Given the description of an element on the screen output the (x, y) to click on. 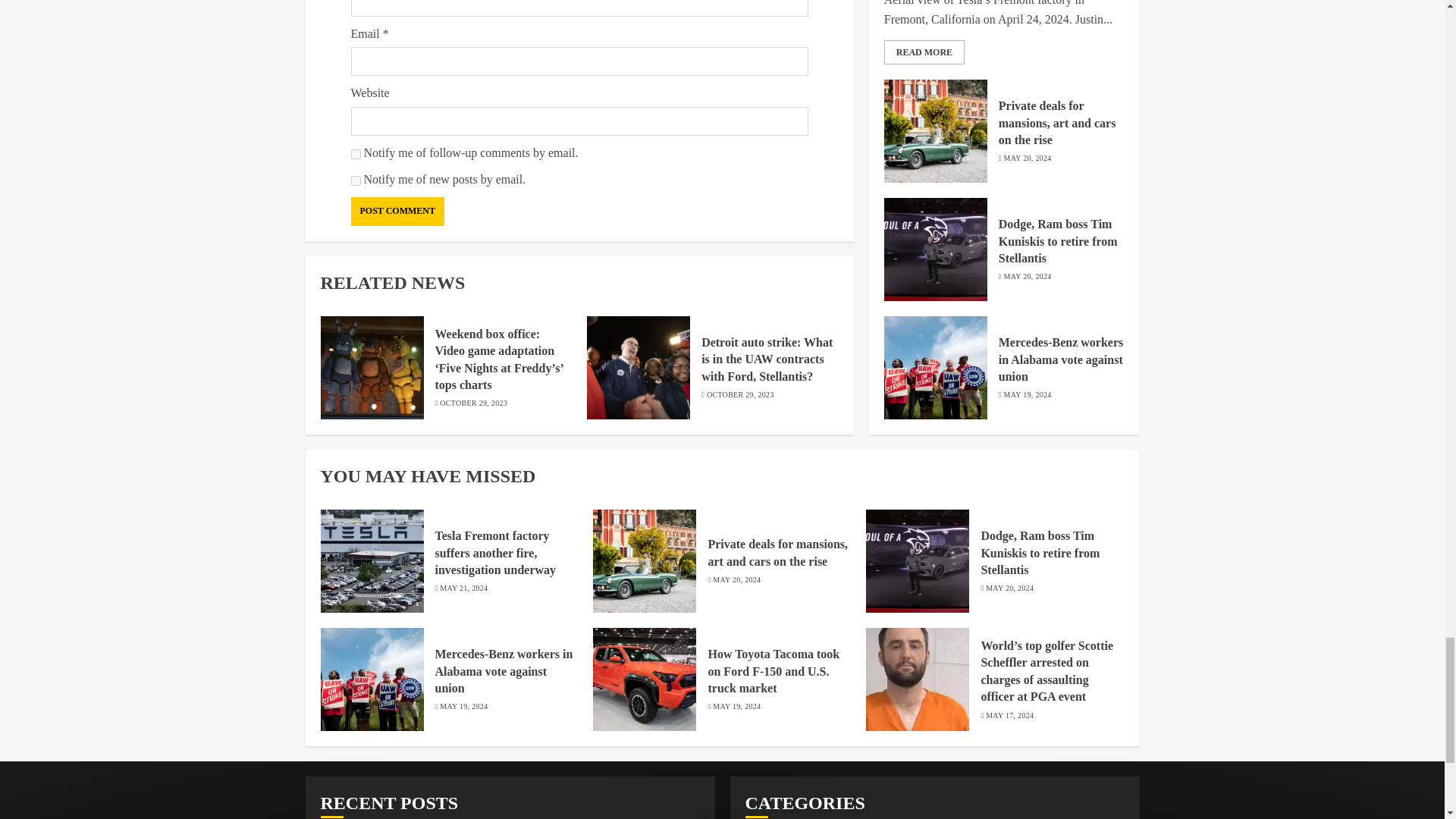
subscribe (354, 153)
subscribe (354, 180)
Post Comment (397, 211)
